Given the description of an element on the screen output the (x, y) to click on. 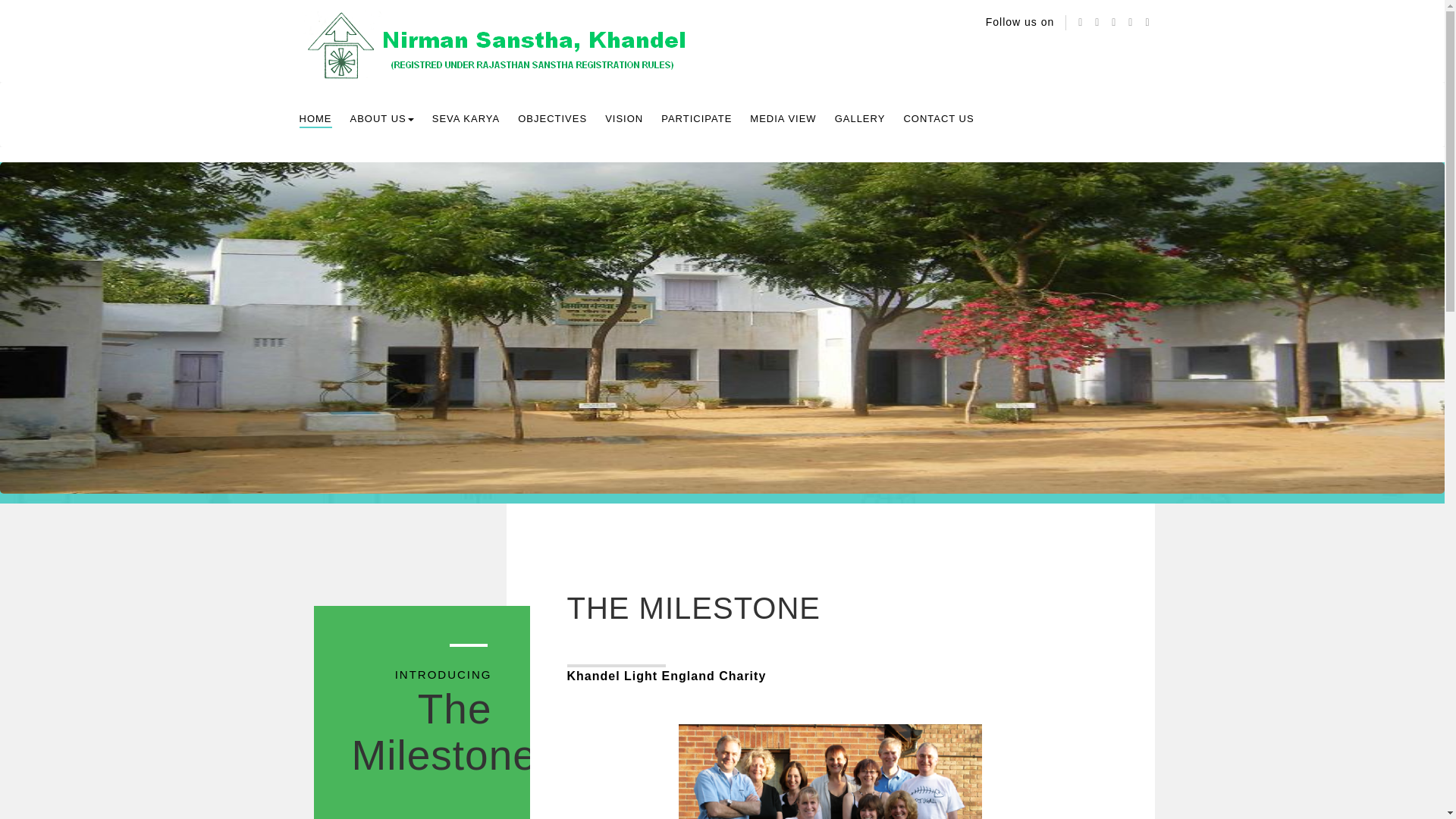
GALLERY (859, 118)
CONTACT US (938, 118)
Follow us on (1019, 22)
VISION (624, 118)
PARTICIPATE (696, 118)
OBJECTIVES (552, 118)
MEDIA VIEW (782, 118)
ABOUT US (381, 118)
SEVA KARYA (466, 118)
HOME (314, 119)
